Given the description of an element on the screen output the (x, y) to click on. 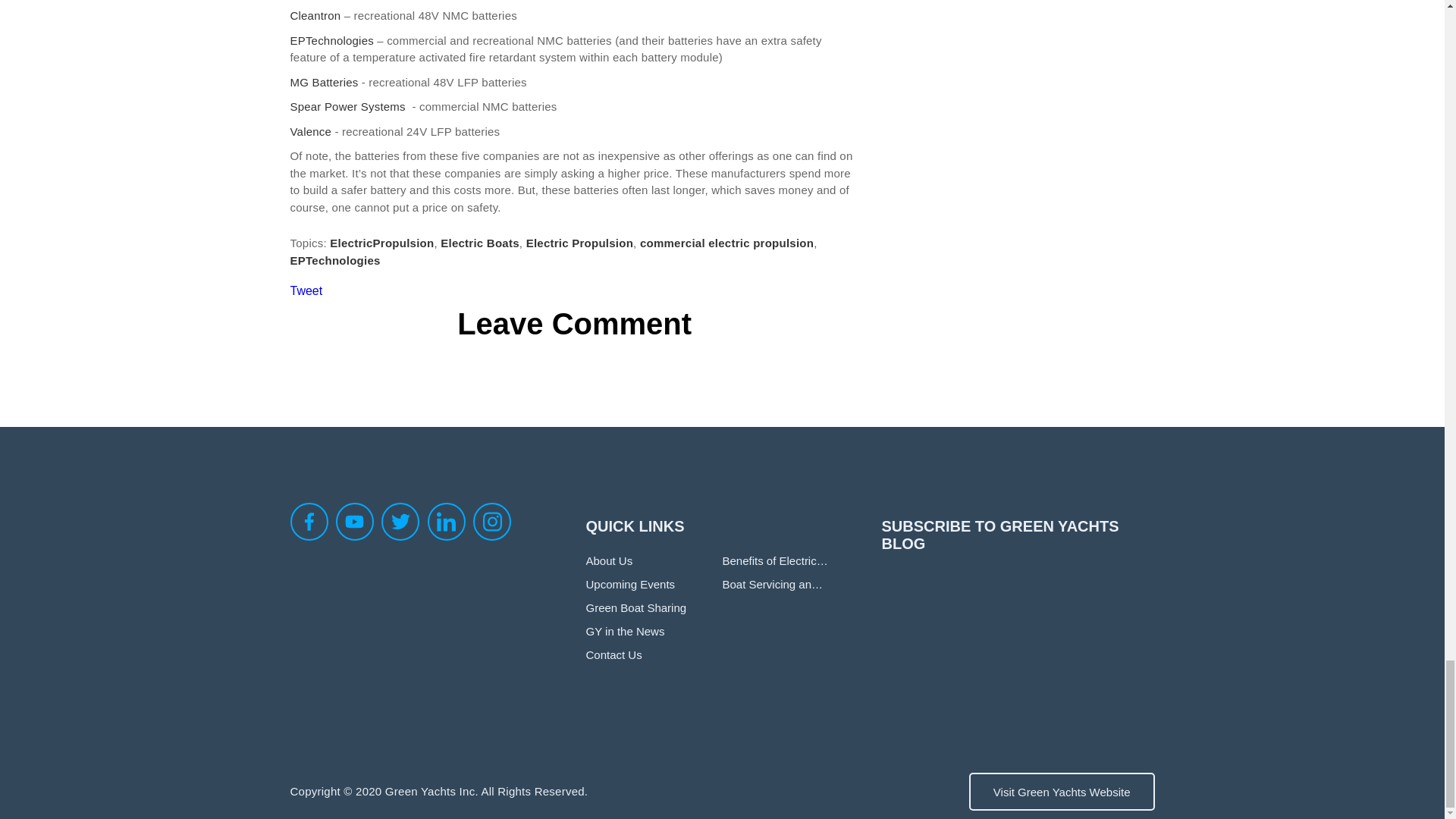
commercial electric propulsion (726, 242)
MG Batteries (323, 82)
Valence (311, 131)
Electric Boats (480, 242)
EPTechnologies (334, 259)
Electric Propulsion (579, 242)
Cleantron (314, 15)
Spear Power Systems  (350, 106)
Tweet (305, 290)
EPTechnologies (330, 40)
